Given the description of an element on the screen output the (x, y) to click on. 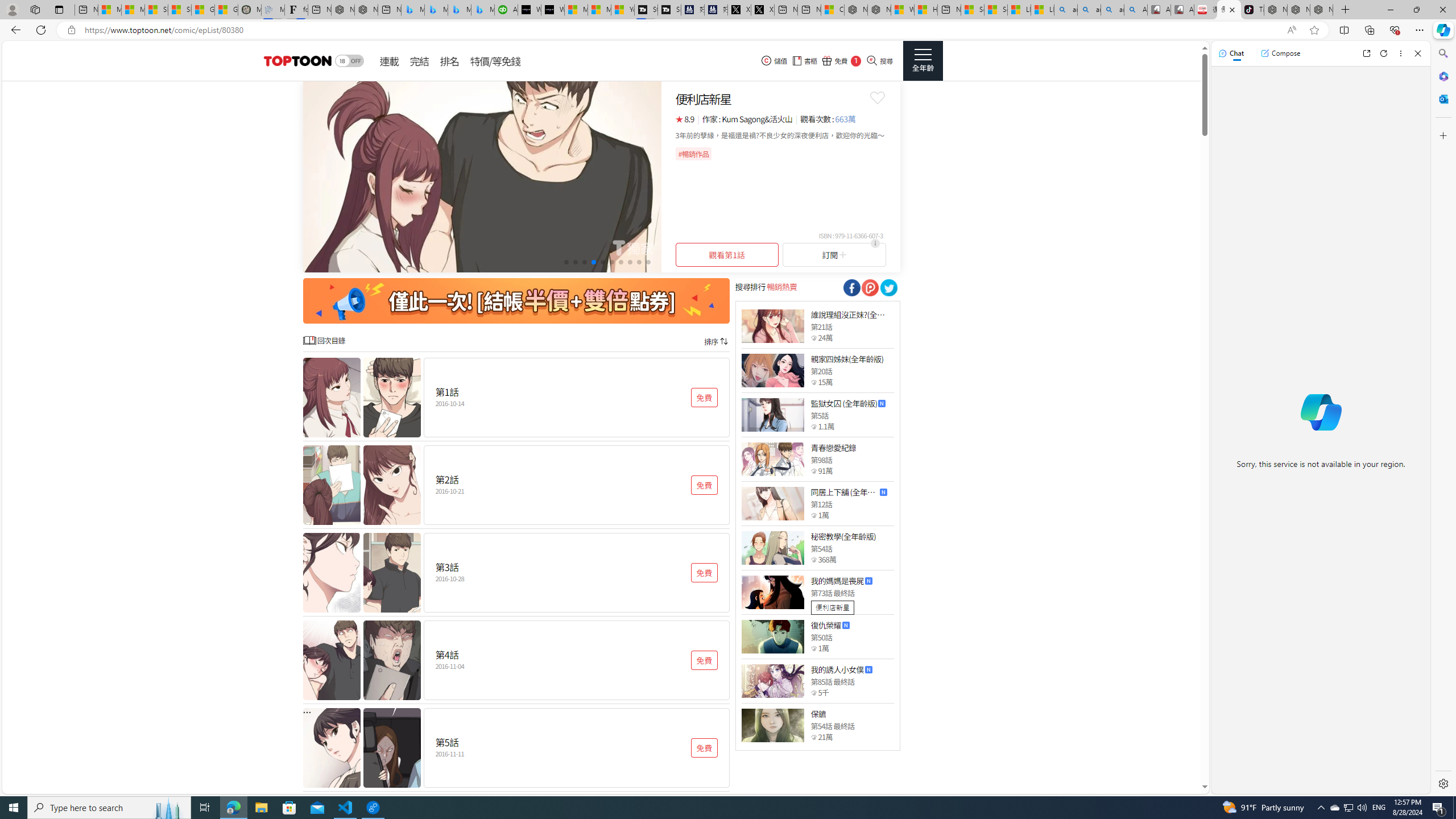
Microsoft Bing Travel - Stays in Bangkok, Bangkok, Thailand (435, 9)
Class: socialShare (887, 287)
Go to slide 3 (584, 261)
Go to slide 10 (647, 261)
Class: epicon_starpoint (813, 736)
